Given the description of an element on the screen output the (x, y) to click on. 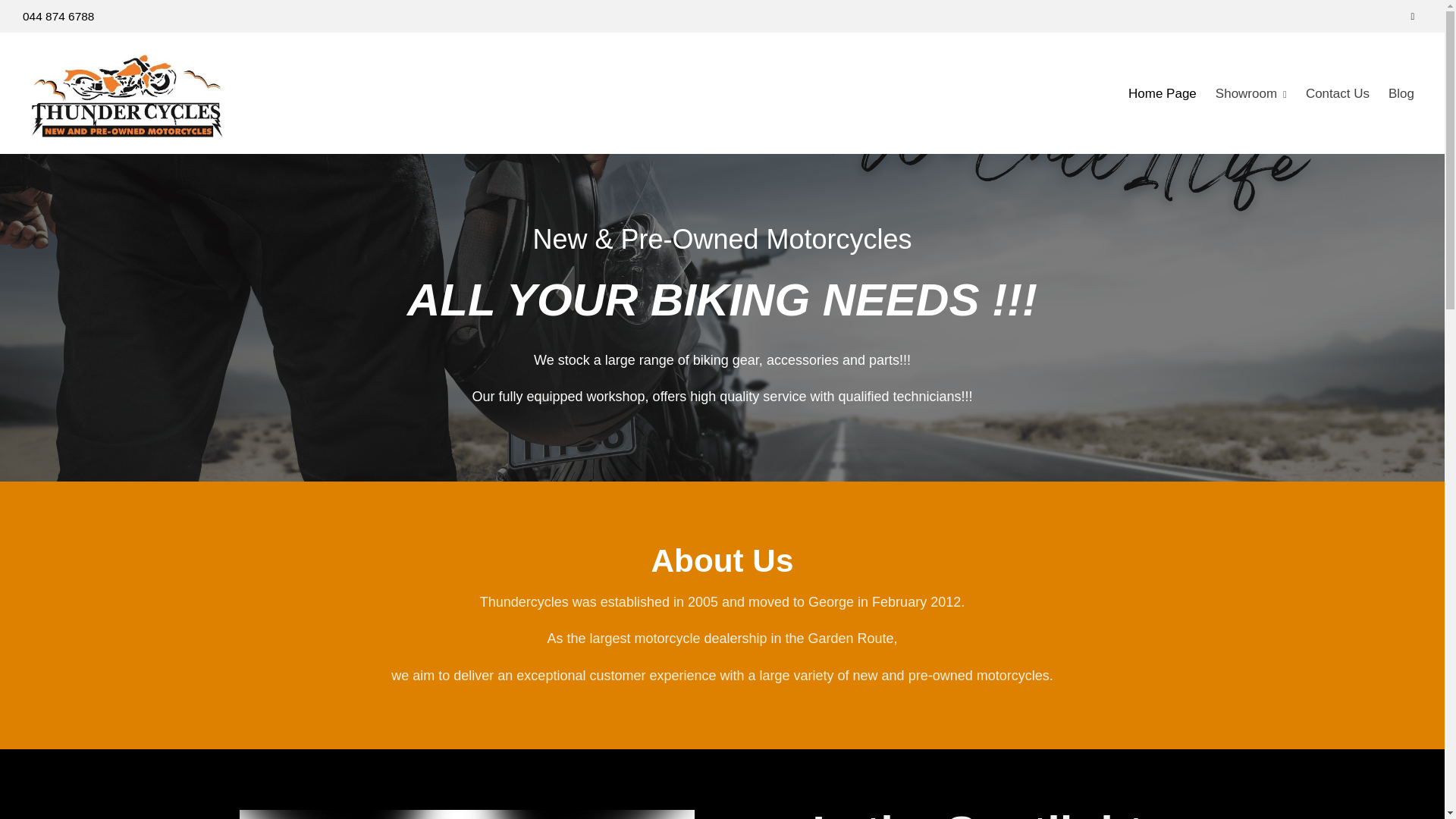
Blog (1401, 93)
Home Page (1162, 93)
Contact Us (1337, 93)
044 874 6788 (58, 15)
